Given the description of an element on the screen output the (x, y) to click on. 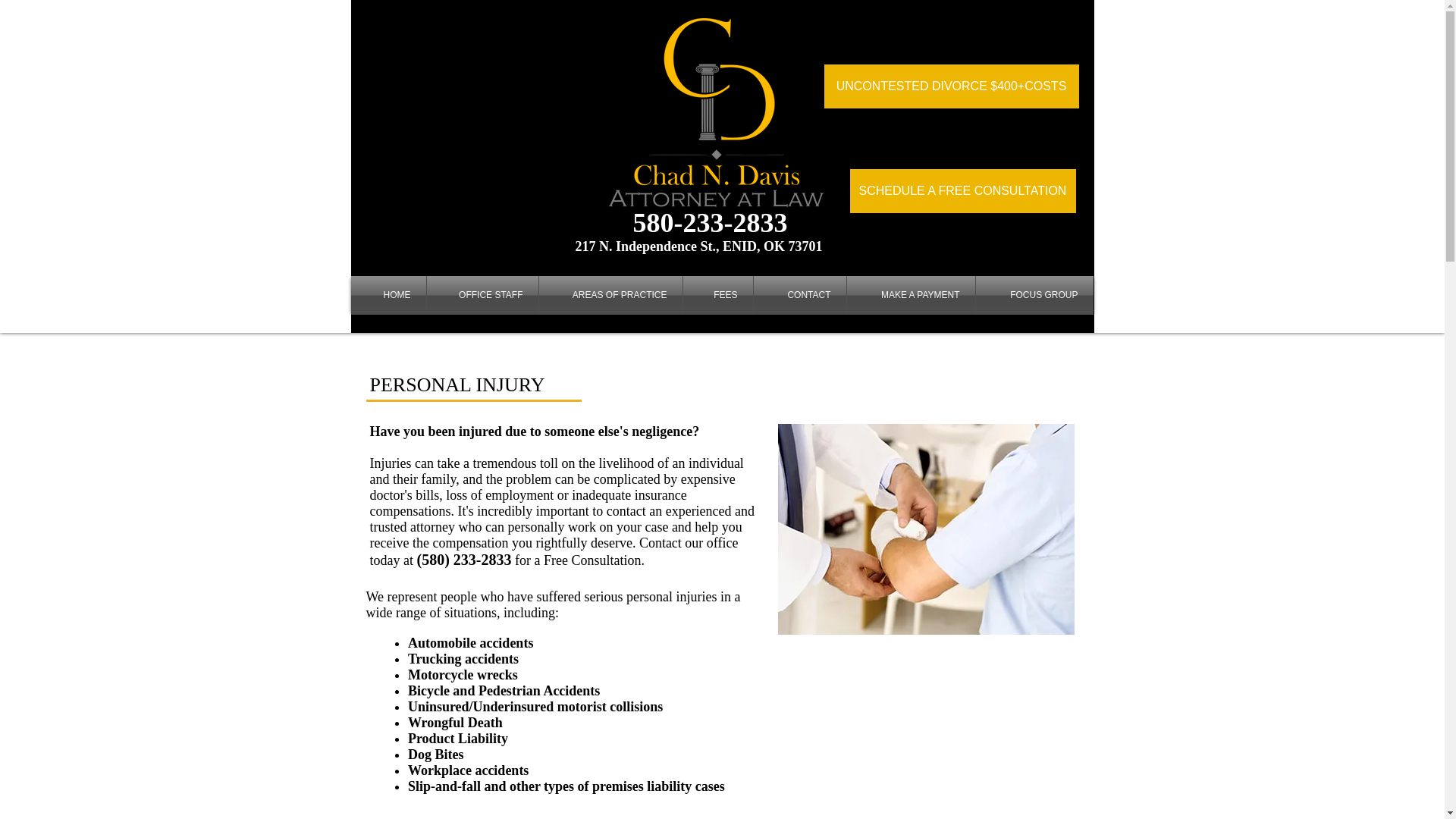
OFFICE STAFF (481, 295)
SCHEDULE A FREE CONSULTATION (961, 190)
CONTACT (799, 295)
AREAS OF PRACTICE (609, 295)
MAKE A PAYMENT (909, 295)
HOME (387, 295)
FEES (717, 295)
FOCUS GROUP (1034, 295)
